Given the description of an element on the screen output the (x, y) to click on. 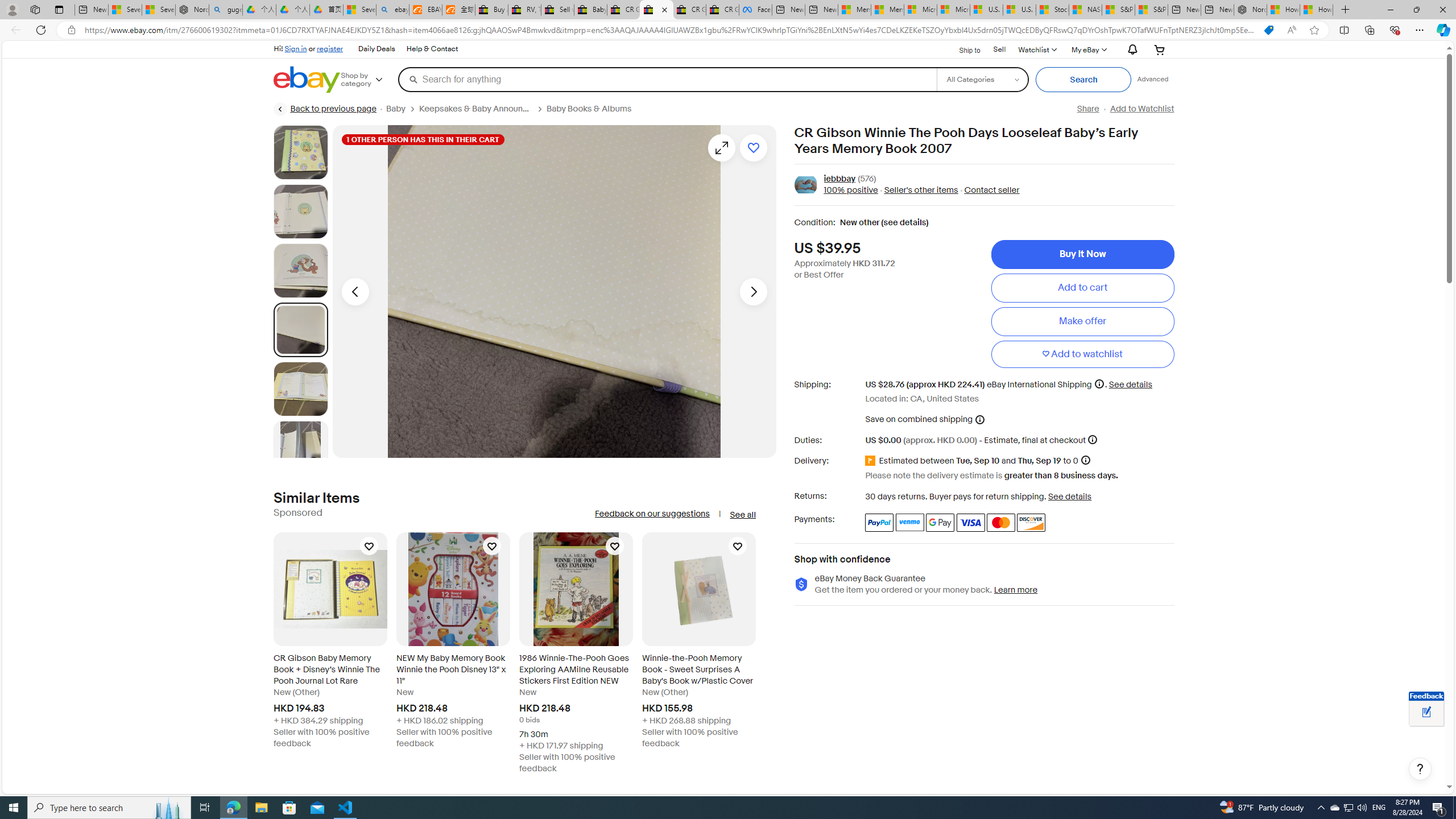
Make offer (1082, 320)
Opens image gallery (721, 147)
Feedback on our suggestions (652, 513)
Add to watchlist (1082, 353)
Keepsakes & Baby Announcements (475, 108)
Picture 6 of 22 (300, 448)
Sell (999, 49)
PayPal (878, 521)
Next image - Item images thumbnails (753, 291)
Add to watchlist (753, 147)
